Given the description of an element on the screen output the (x, y) to click on. 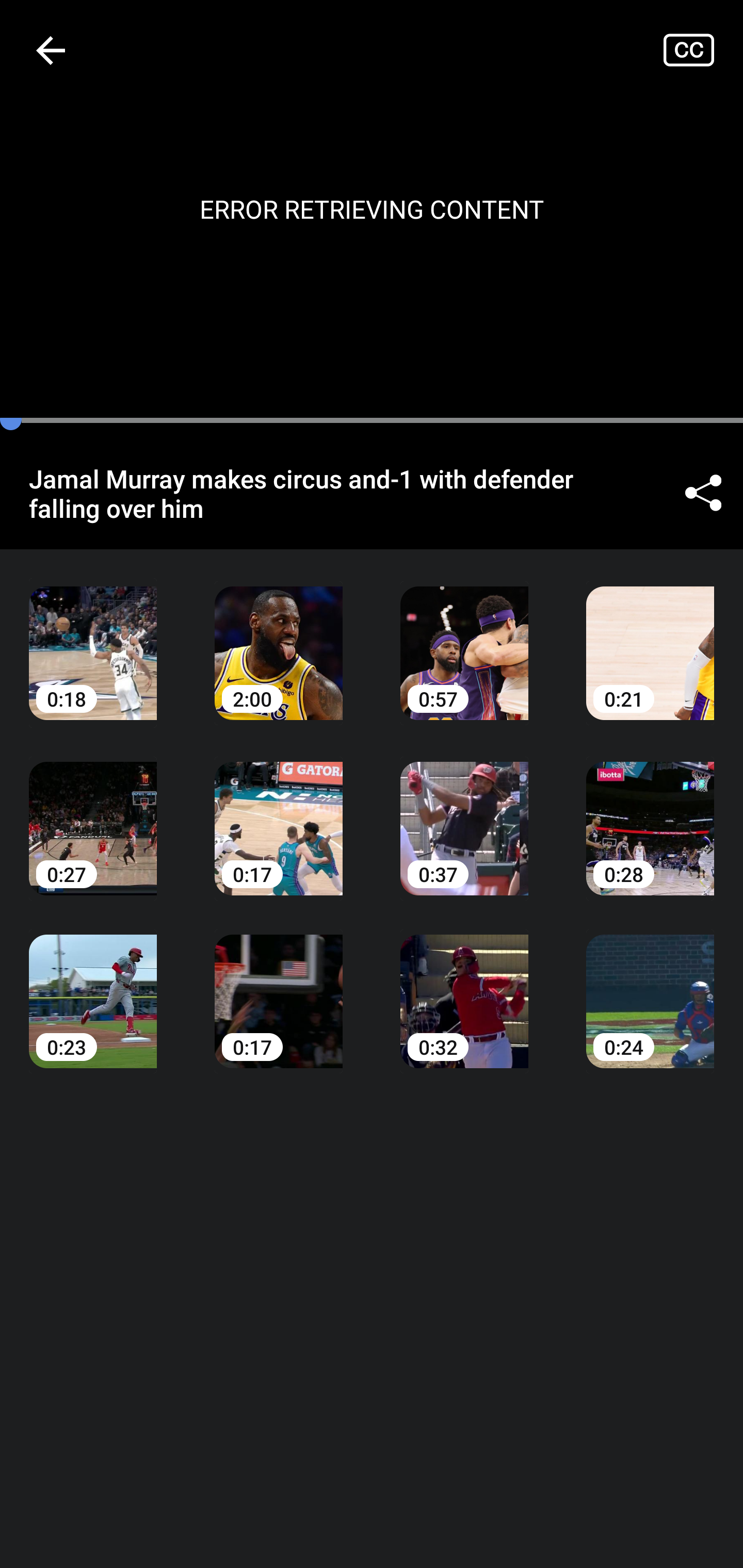
Navigate up (50, 50)
Closed captions  (703, 49)
Share © (703, 493)
0:18 (92, 637)
2:00 (278, 637)
0:57 (464, 637)
0:21 (650, 637)
0:27 (92, 813)
0:17 (278, 813)
0:37 (464, 813)
0:28 (650, 813)
0:23 (92, 987)
0:17 (278, 987)
0:32 (464, 987)
0:24 (650, 987)
